Given the description of an element on the screen output the (x, y) to click on. 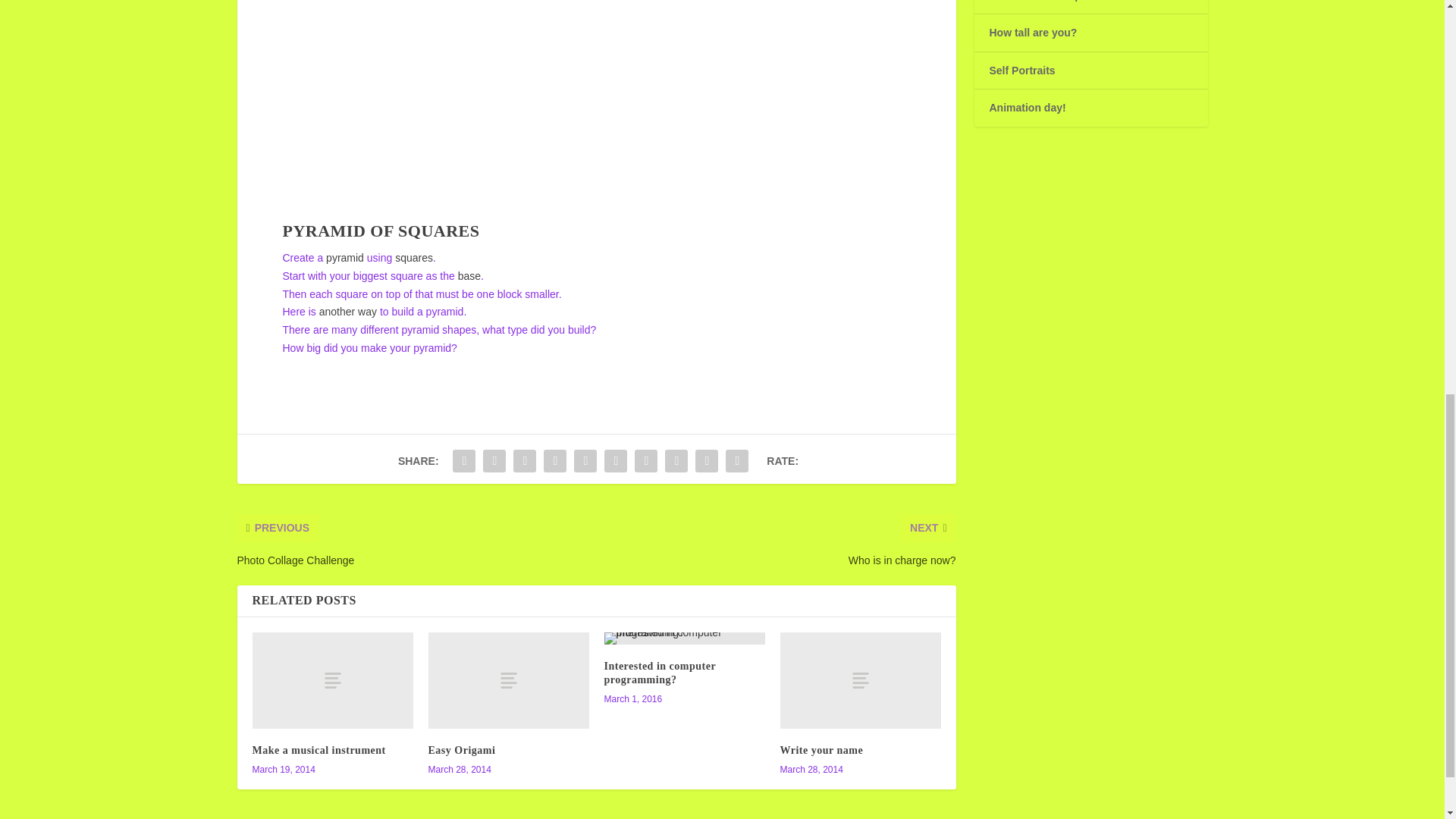
Share "Minecraft Missions: Mathursday" via Stumbleupon (676, 460)
Interested in computer programming? (659, 672)
Interested in computer programming? (684, 638)
Share "Minecraft Missions: Mathursday" via Email (706, 460)
Easy Origami (461, 749)
pyramid (346, 257)
another way (347, 311)
Share "Minecraft Missions: Mathursday" via Twitter (494, 460)
Share "Minecraft Missions: Mathursday" via Tumblr (555, 460)
Make a musical instrument (331, 680)
